Given the description of an element on the screen output the (x, y) to click on. 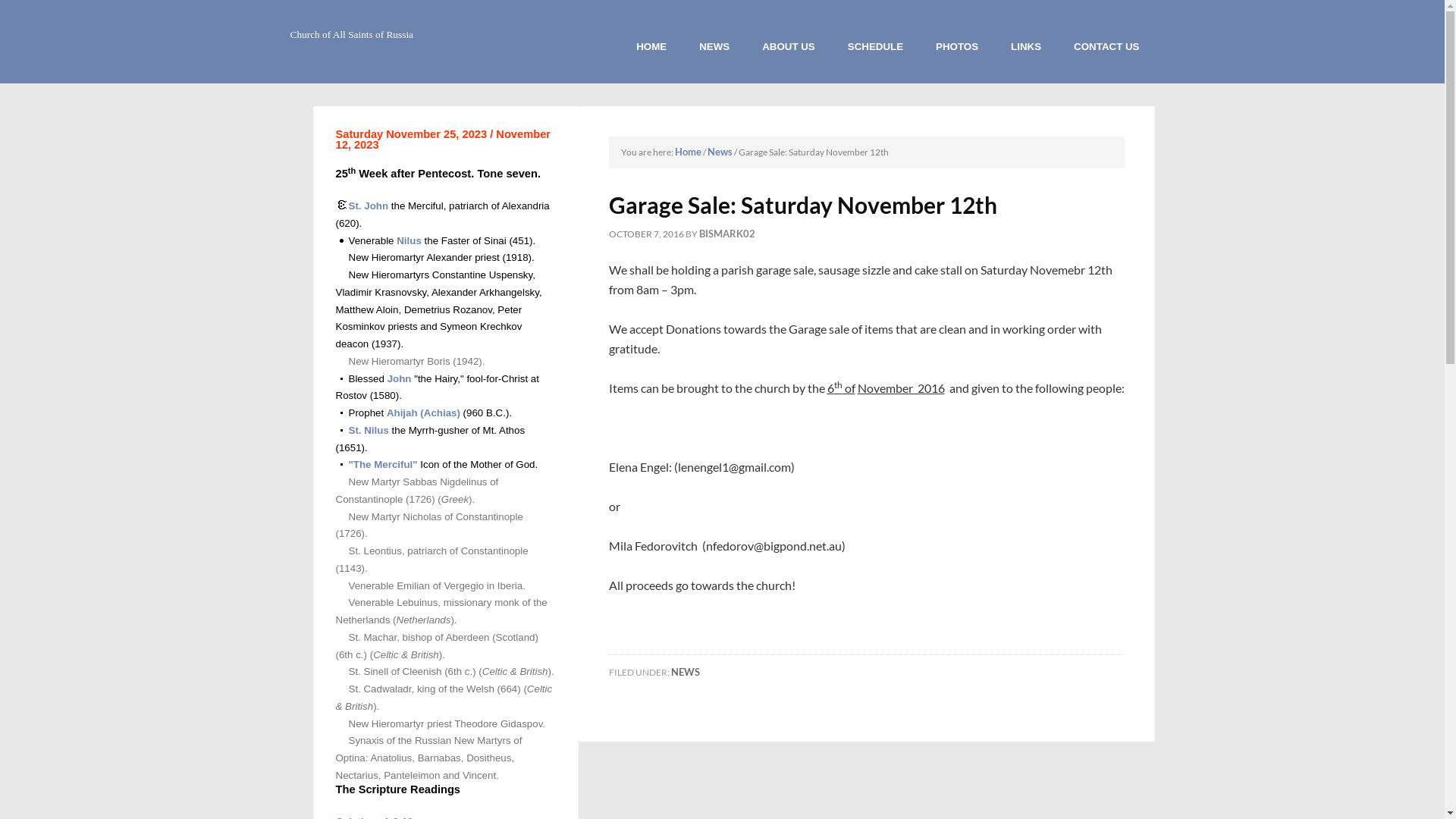
NEWS Element type: text (684, 671)
Church of All Saints of Russia Element type: text (351, 34)
St. Nilus Element type: text (368, 430)
"The Merciful" Element type: text (382, 464)
PHOTOS Element type: text (956, 46)
News Element type: text (718, 151)
St. John Element type: text (368, 205)
SCHEDULE Element type: text (875, 46)
LINKS Element type: text (1025, 46)
BISMARK02 Element type: text (727, 233)
CONTACT US Element type: text (1106, 46)
John Element type: text (399, 378)
NEWS Element type: text (714, 46)
HOME Element type: text (651, 46)
Nilus Element type: text (408, 240)
ABOUT US Element type: text (788, 46)
Home Element type: text (687, 151)
Ahijah (Achias) Element type: text (423, 412)
